Given the description of an element on the screen output the (x, y) to click on. 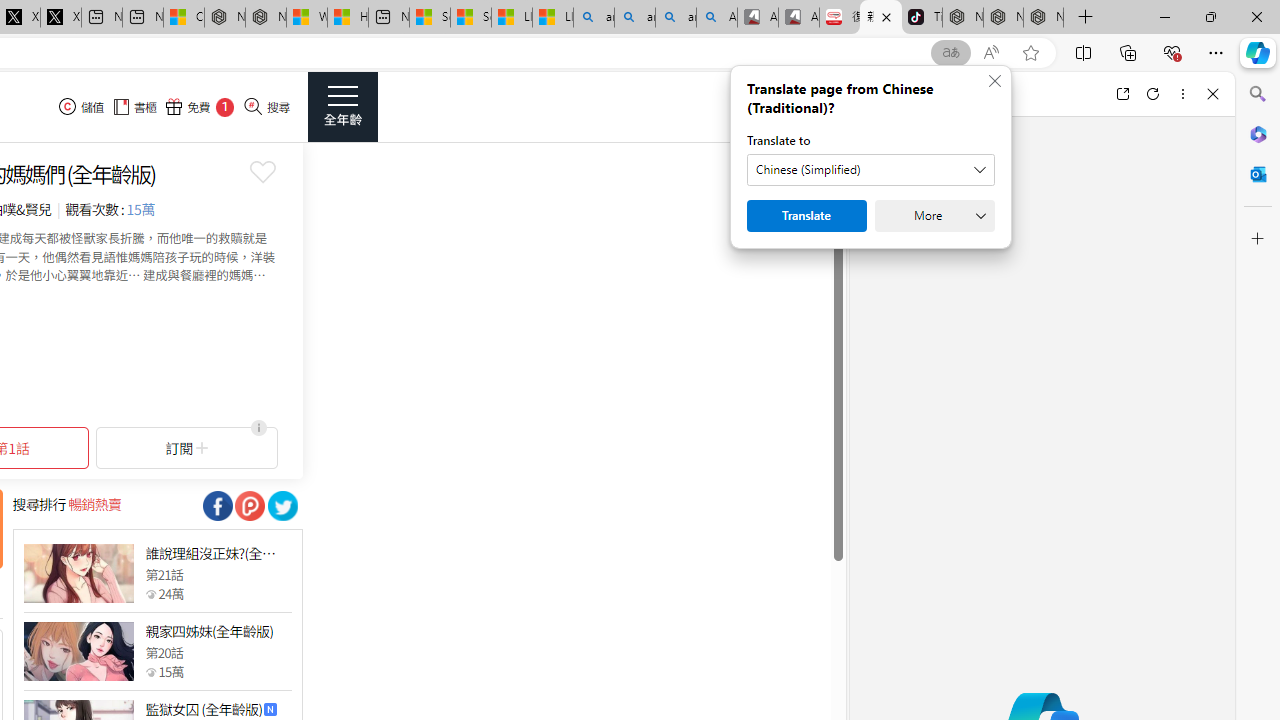
Nordace Siena Pro 15 Backpack (1003, 17)
Chat (884, 93)
Class: side_menu_btn actionRightMenuBtn (342, 106)
Outlook (1258, 174)
Wildlife - MSN (306, 17)
Open link in new tab (1122, 93)
More options (1182, 93)
